Given the description of an element on the screen output the (x, y) to click on. 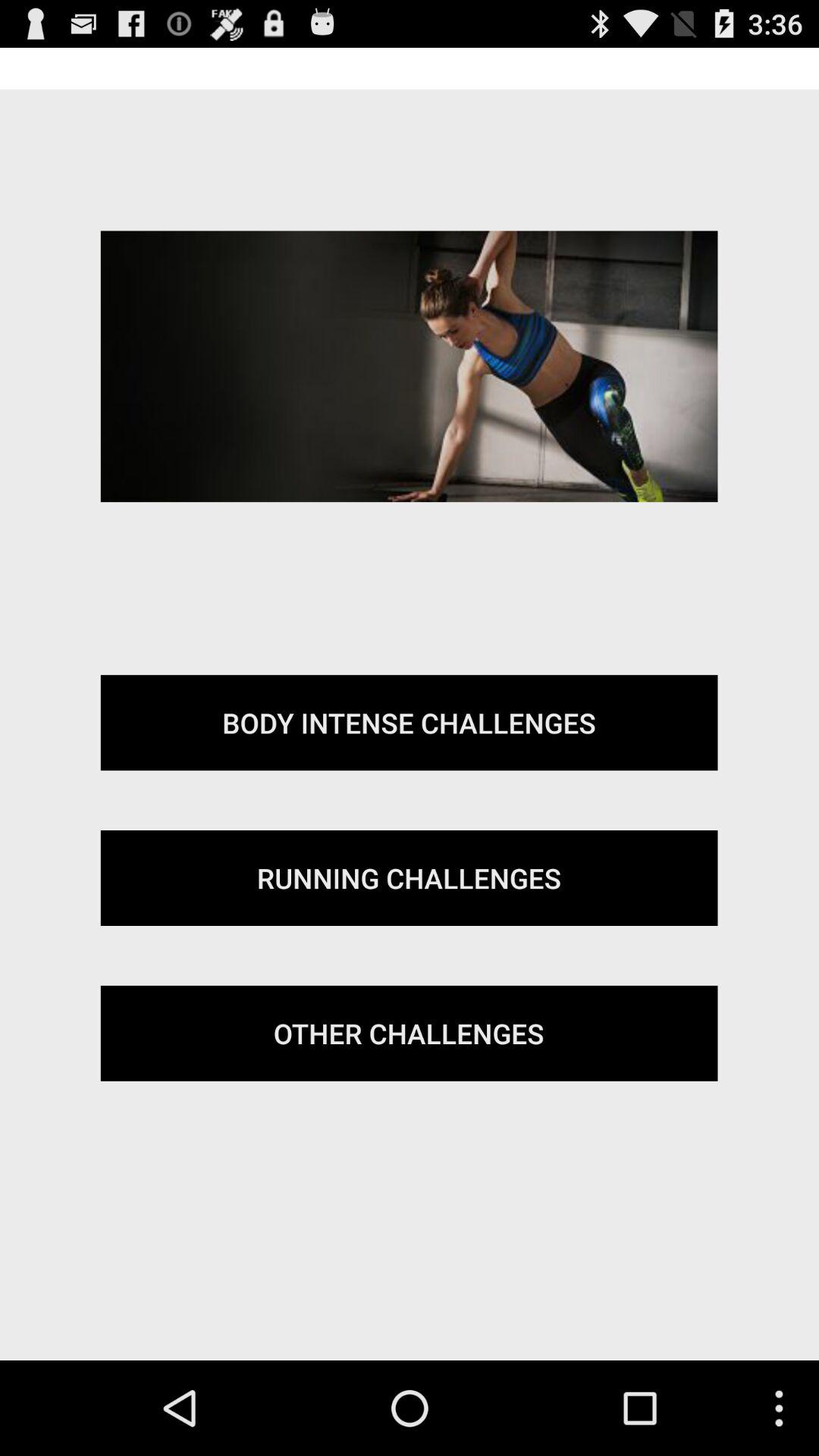
choose the other challenges icon (408, 1033)
